Given the description of an element on the screen output the (x, y) to click on. 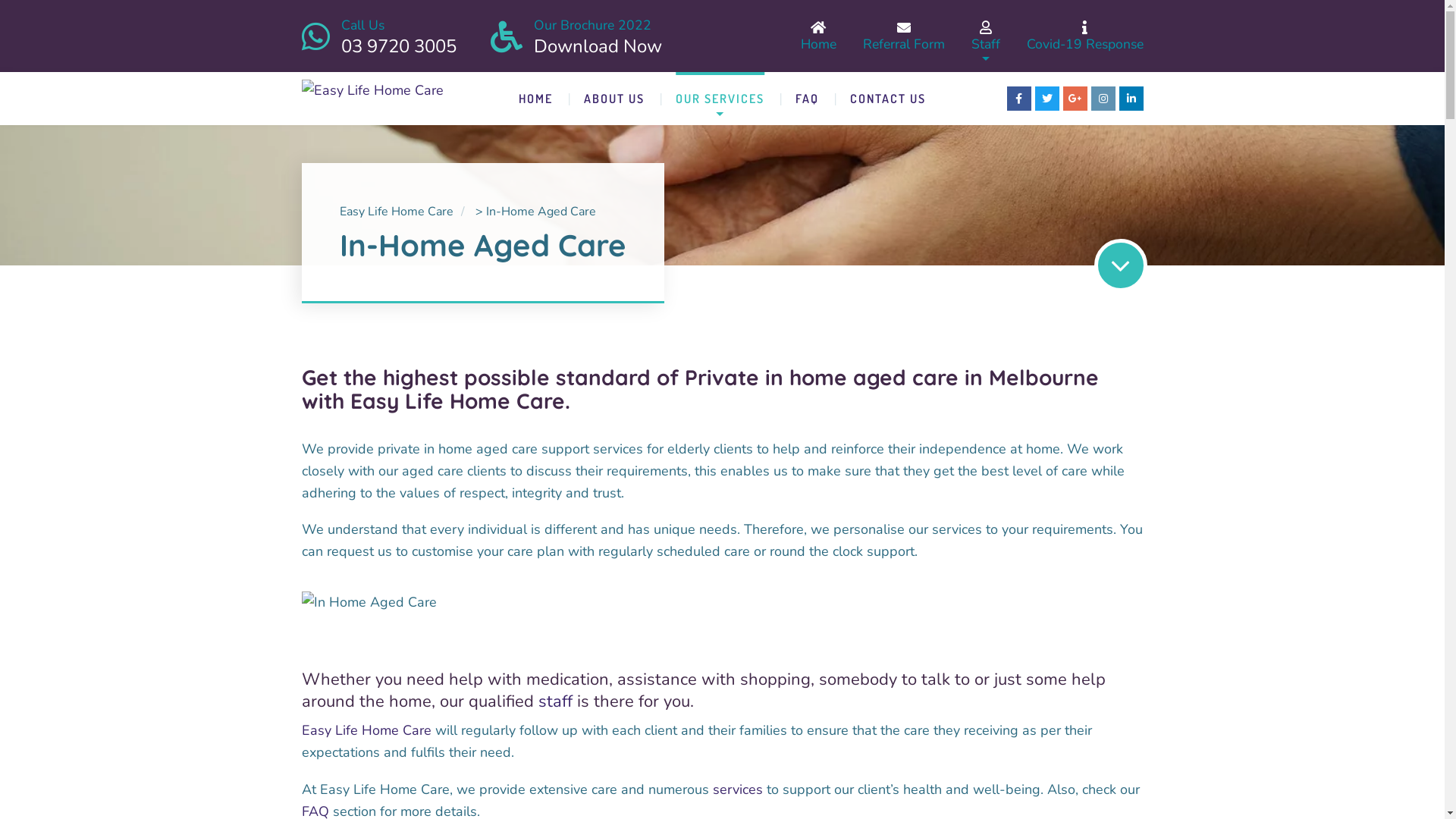
FAQ Element type: text (807, 98)
Easy Life Home Care Element type: text (396, 211)
Home Element type: text (818, 35)
ABOUT US Element type: text (613, 98)
staff Element type: text (555, 701)
Covid-19 Response Element type: text (1084, 35)
Our Brochure 2022
Download Now Element type: text (597, 35)
Call Us
03 9720 3005 Element type: text (398, 35)
OUR SERVICES Element type: text (719, 98)
HOME Element type: text (535, 98)
services Element type: text (737, 789)
Referral Form Element type: text (903, 35)
CONTACT US Element type: text (887, 98)
Easy Life Home Care Element type: text (366, 730)
Staff Element type: text (984, 35)
